Given the description of an element on the screen output the (x, y) to click on. 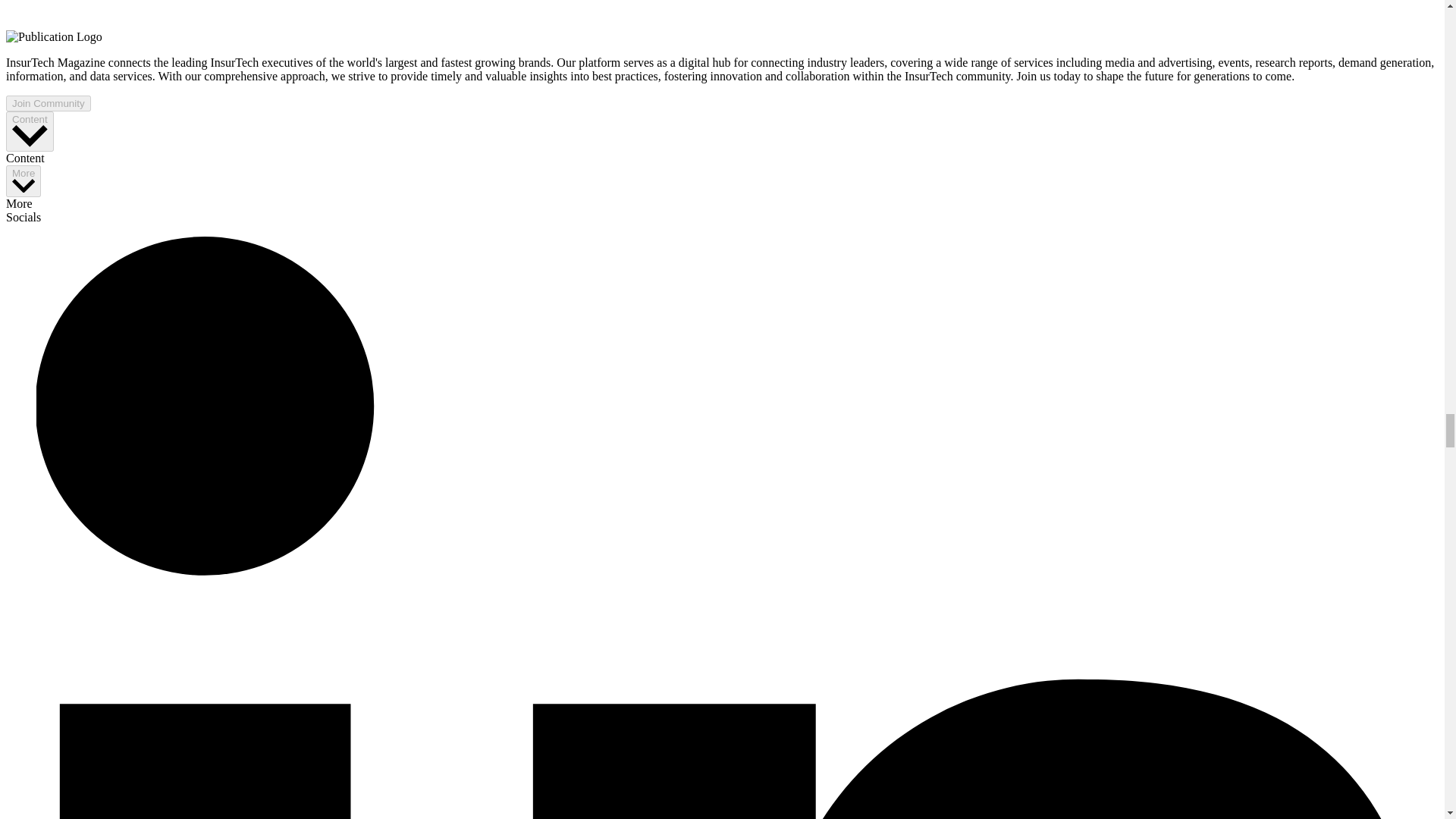
More (22, 181)
Content (29, 131)
Join Community (47, 103)
